Given the description of an element on the screen output the (x, y) to click on. 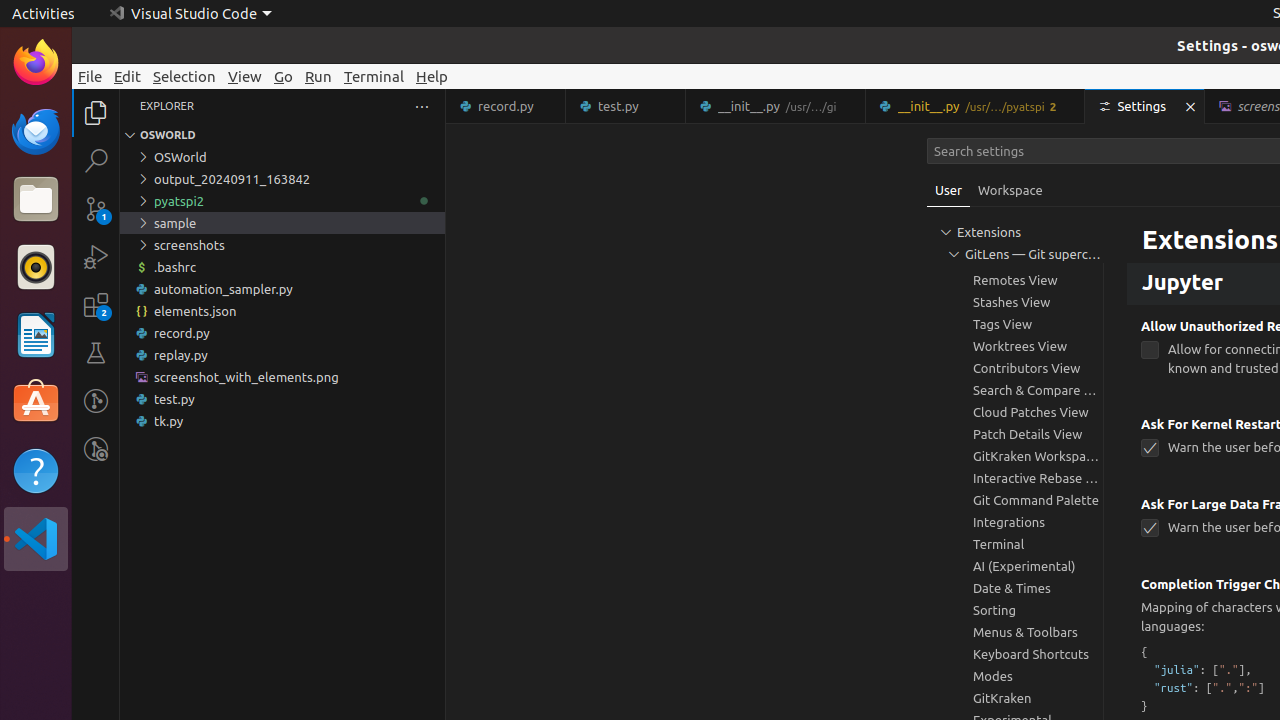
Visual File History, group Element type: tree-item (1015, 214)
Go Element type: push-button (283, 76)
record.py Element type: page-tab (506, 106)
automation_sampler.py Element type: tree-item (282, 289)
